Given the description of an element on the screen output the (x, y) to click on. 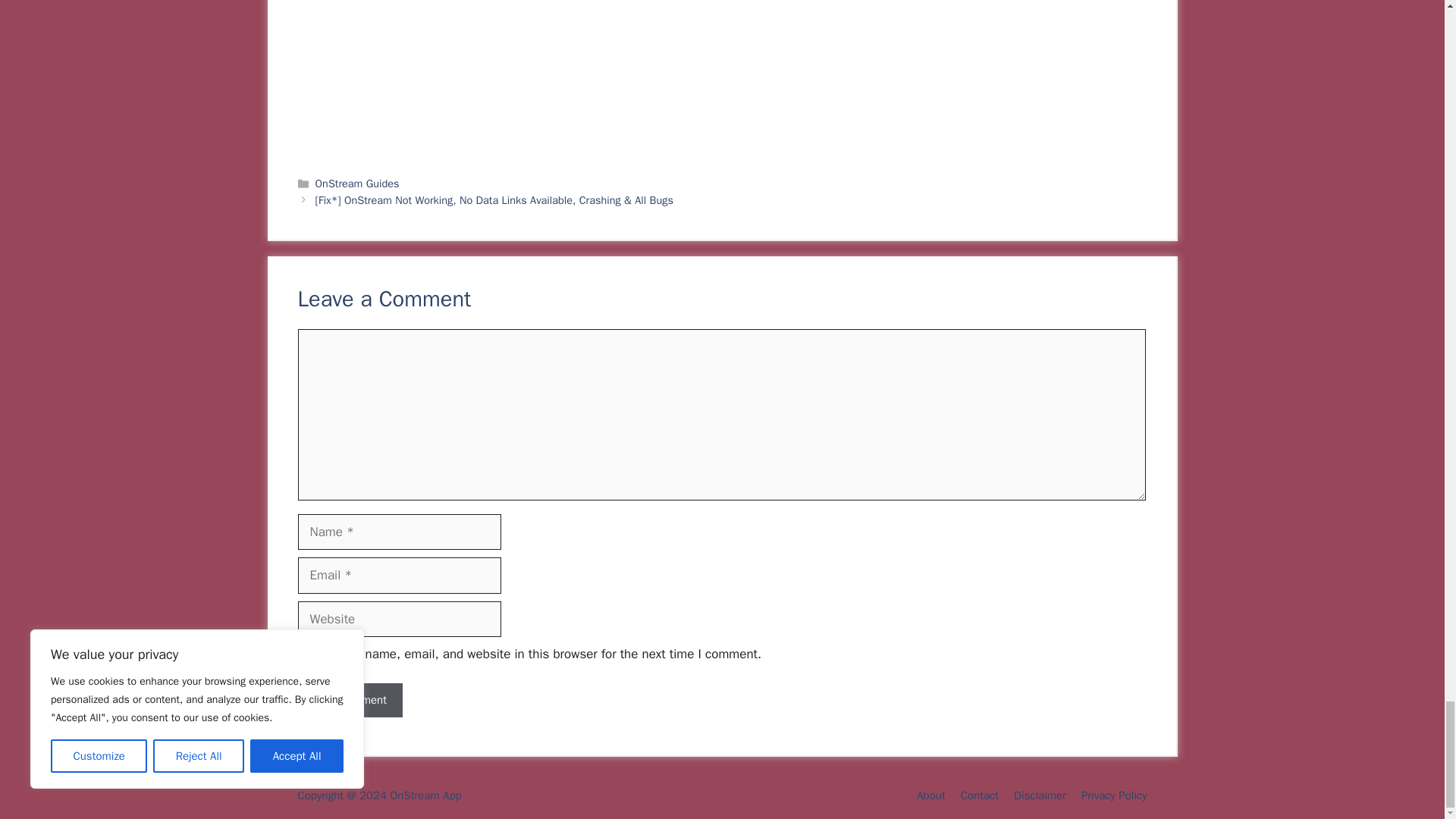
yes (302, 655)
Post Comment (349, 700)
OnStream Guides (356, 183)
